Given the description of an element on the screen output the (x, y) to click on. 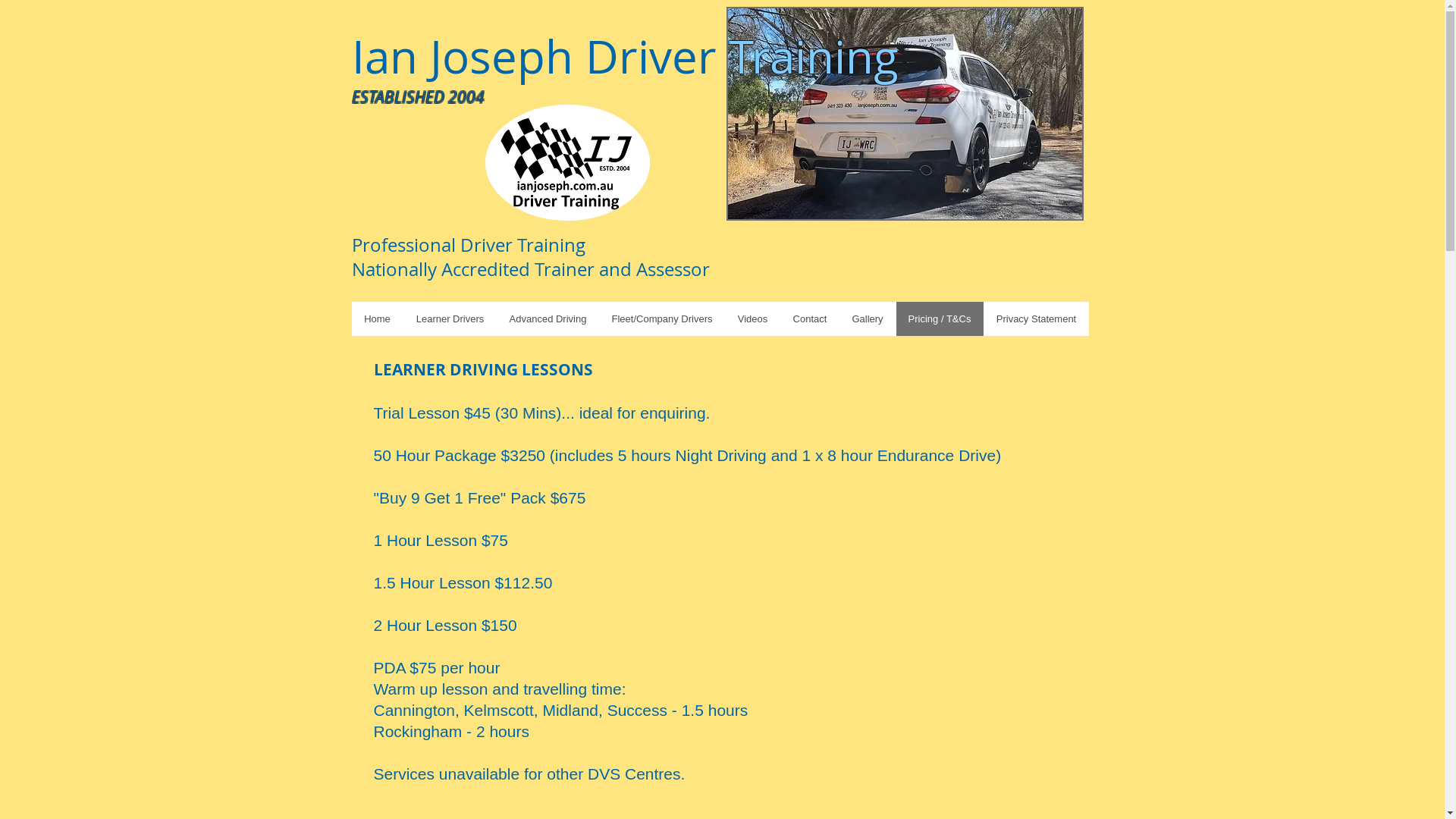
Videos Element type: text (752, 318)
Contact Element type: text (808, 318)
Fleet/Company Drivers Element type: text (661, 318)
Learner Drivers Element type: text (449, 318)
Home Element type: text (377, 318)
Privacy Statement Element type: text (1035, 318)
Gallery Element type: text (866, 318)
Pricing / T&Cs Element type: text (938, 318)
Advanced Driving Element type: text (546, 318)
